Given the description of an element on the screen output the (x, y) to click on. 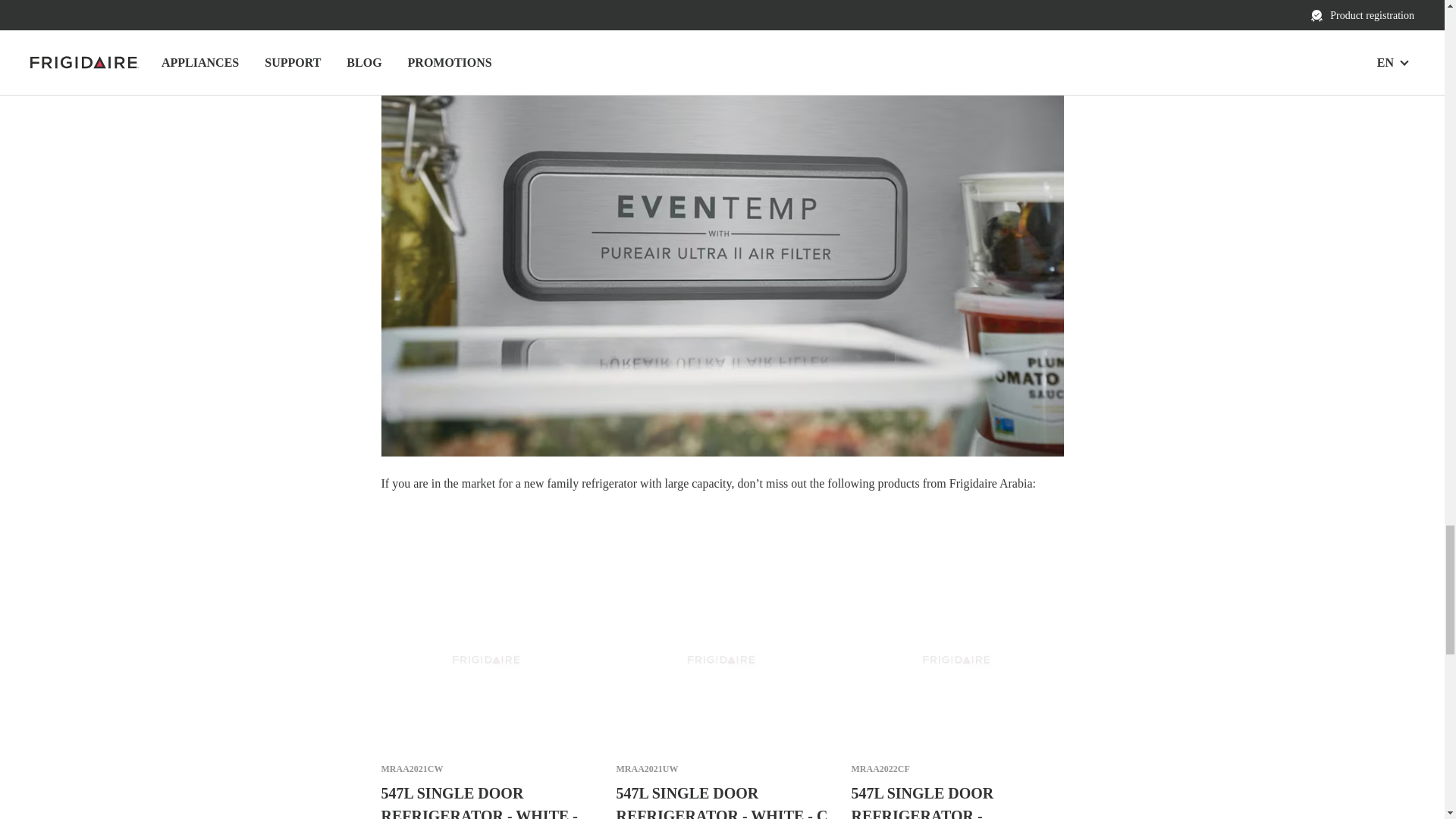
547L SINGLE DOOR REFRIGERATOR - WHITE - 4-STAR ENERGY RATING (486, 800)
MRAA2021CW (411, 768)
